Given the description of an element on the screen output the (x, y) to click on. 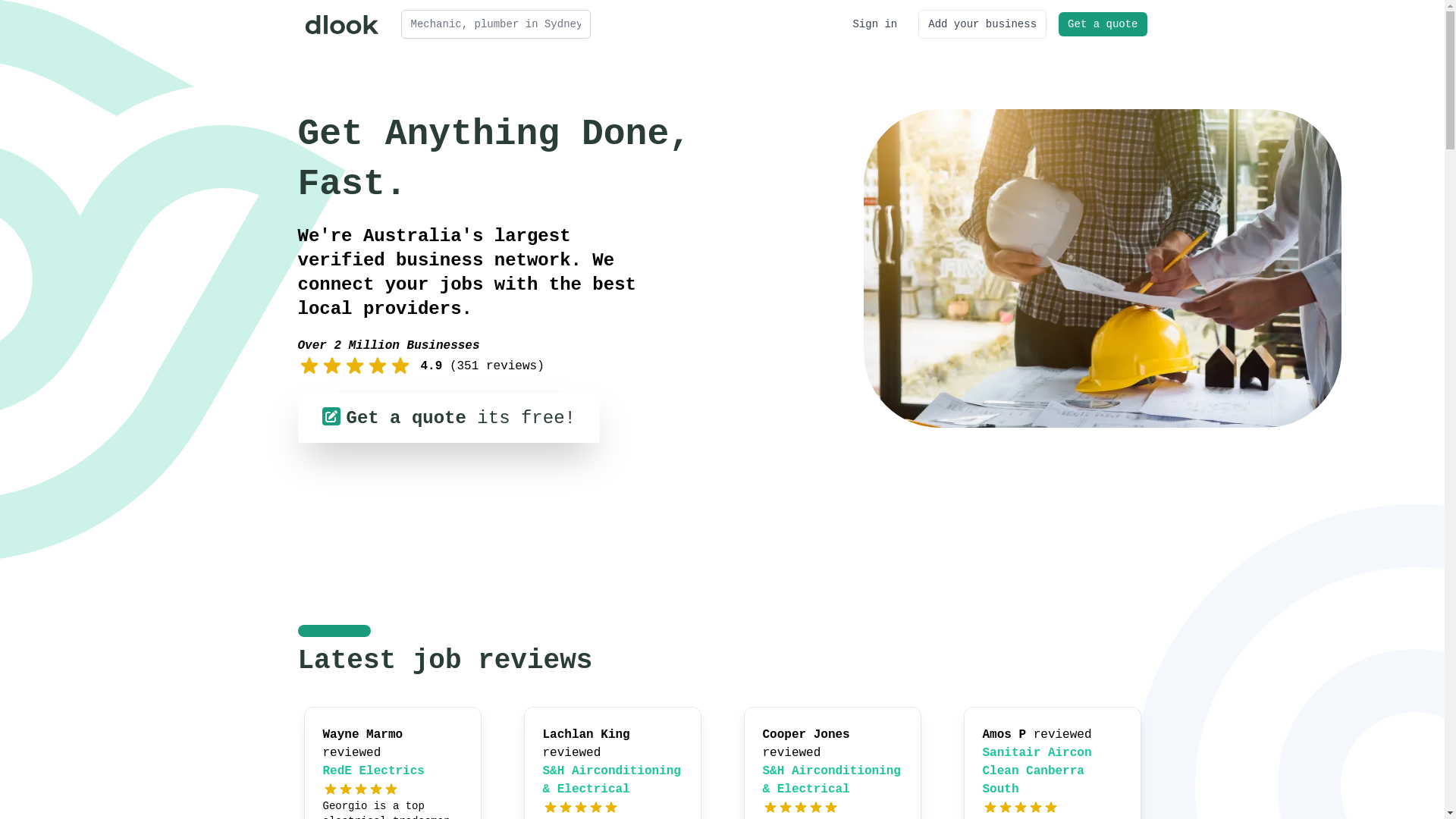
Sanitair Aircon Clean Canberra South Element type: text (1037, 771)
S&H Airconditioning & Electrical Element type: text (611, 780)
Get a quote Element type: text (1102, 24)
Sign in Element type: text (874, 23)
Add your business Element type: text (982, 23)
RedE Electrics Element type: text (373, 771)
Get a quote its free! Element type: text (448, 417)
S&H Airconditioning & Electrical Element type: text (831, 780)
